Given the description of an element on the screen output the (x, y) to click on. 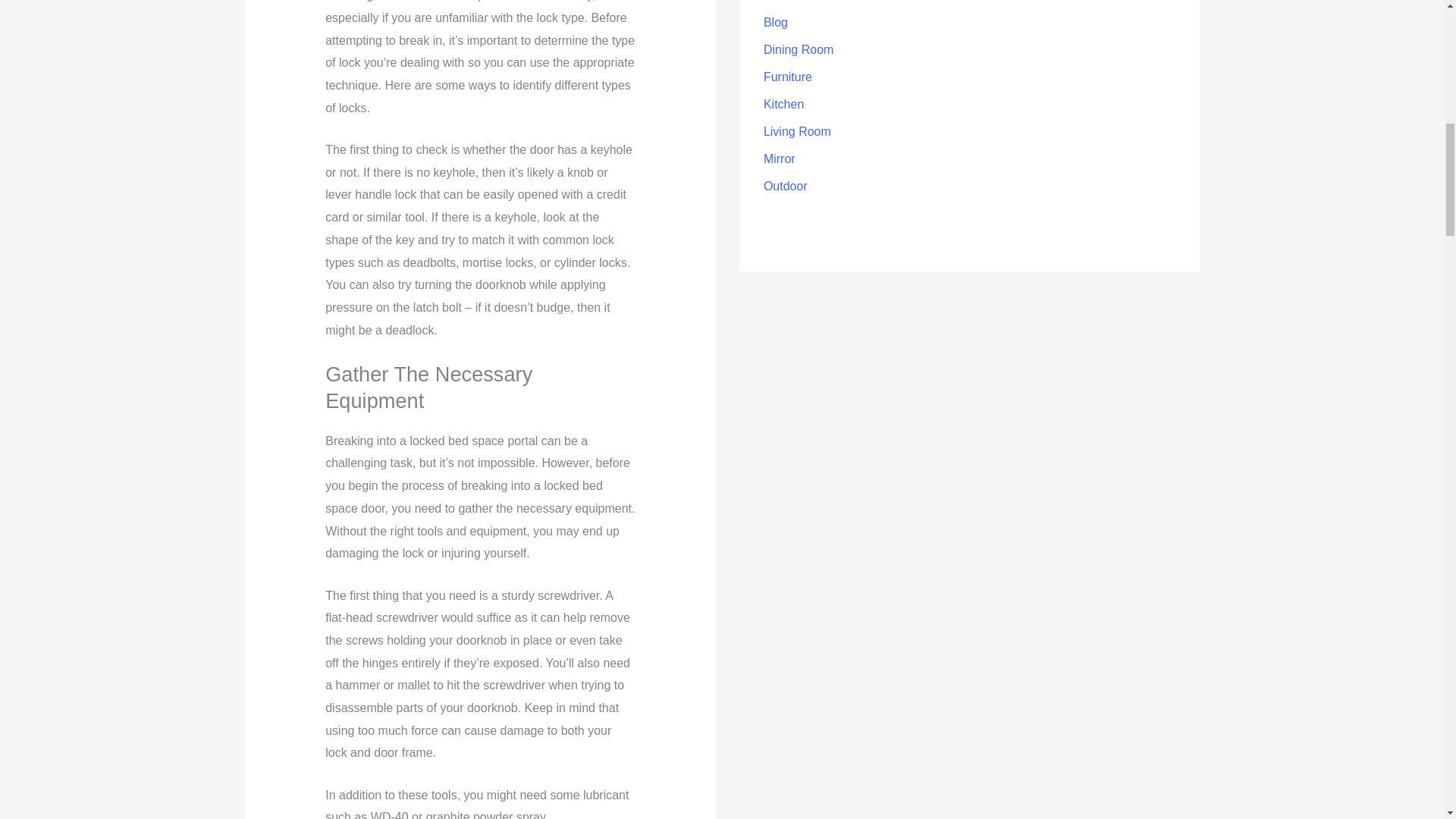
Blog (774, 21)
Furniture (787, 76)
Bedroom (787, 0)
Kitchen (782, 103)
Dining Room (797, 49)
Living Room (796, 131)
